Given the description of an element on the screen output the (x, y) to click on. 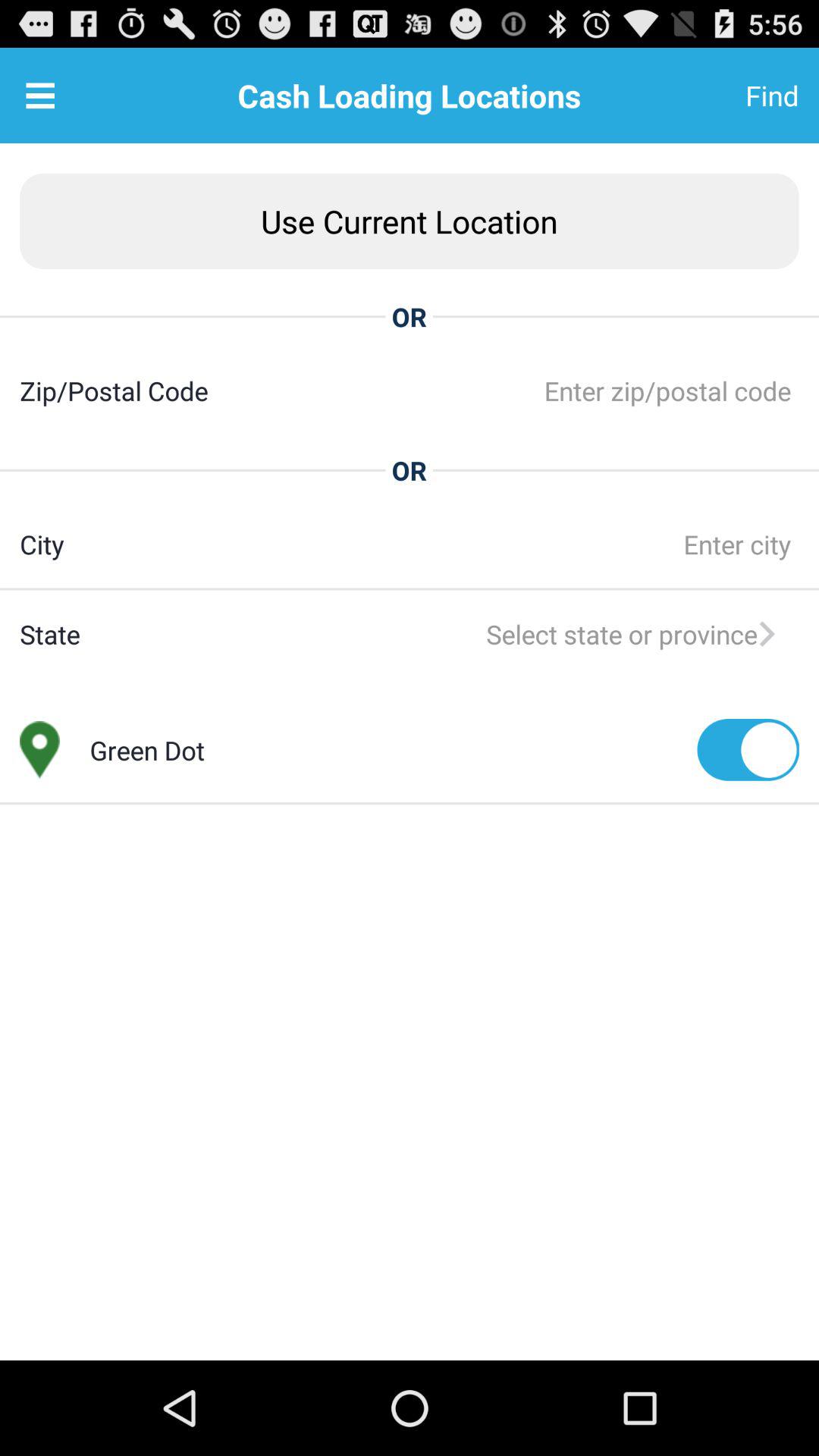
tap the app to the right of green dot app (748, 749)
